Given the description of an element on the screen output the (x, y) to click on. 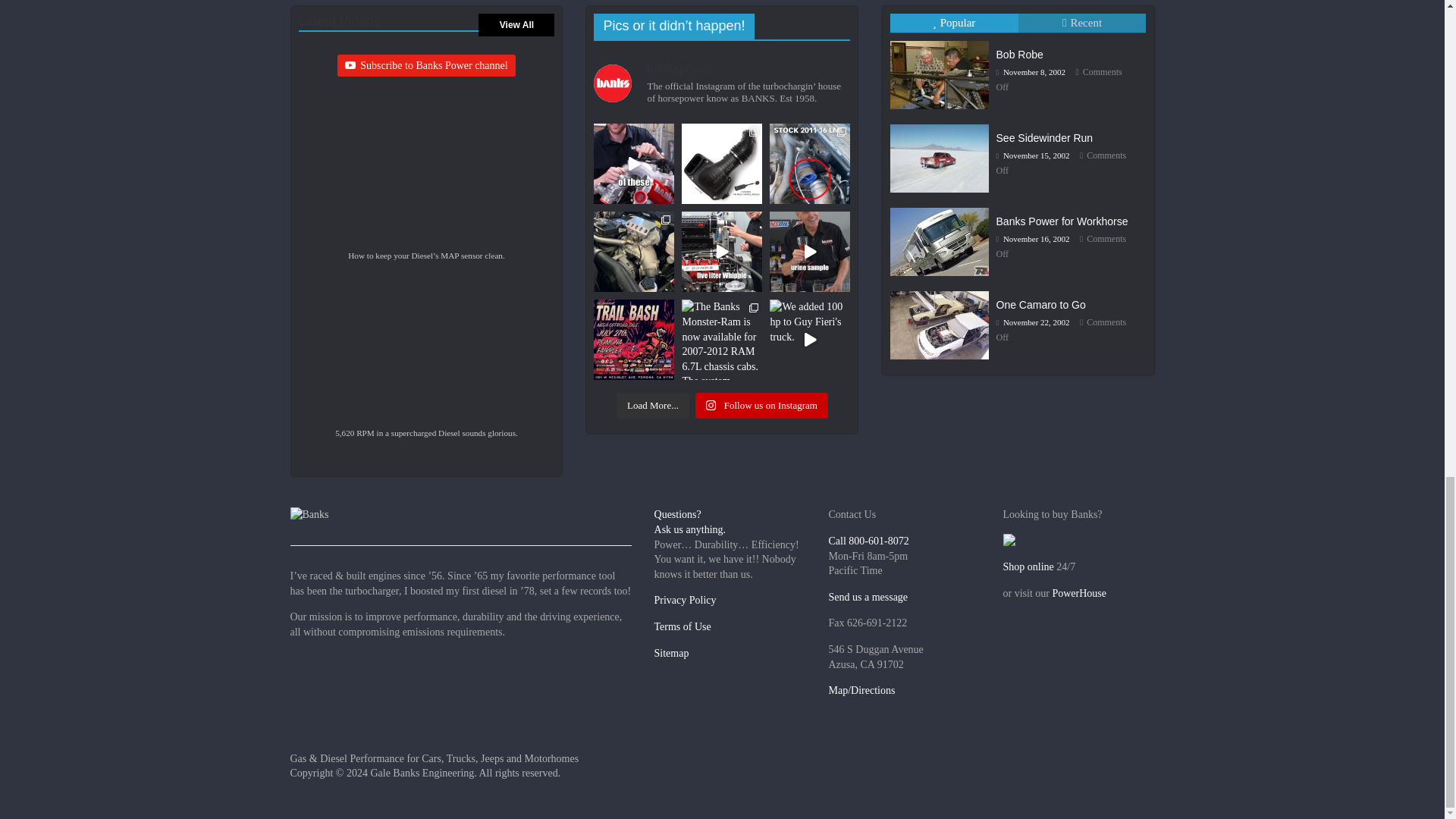
Bob Robe (1019, 54)
Bob Robe (938, 74)
12:00 am (1030, 71)
Bob Robe (942, 40)
